Given the description of an element on the screen output the (x, y) to click on. 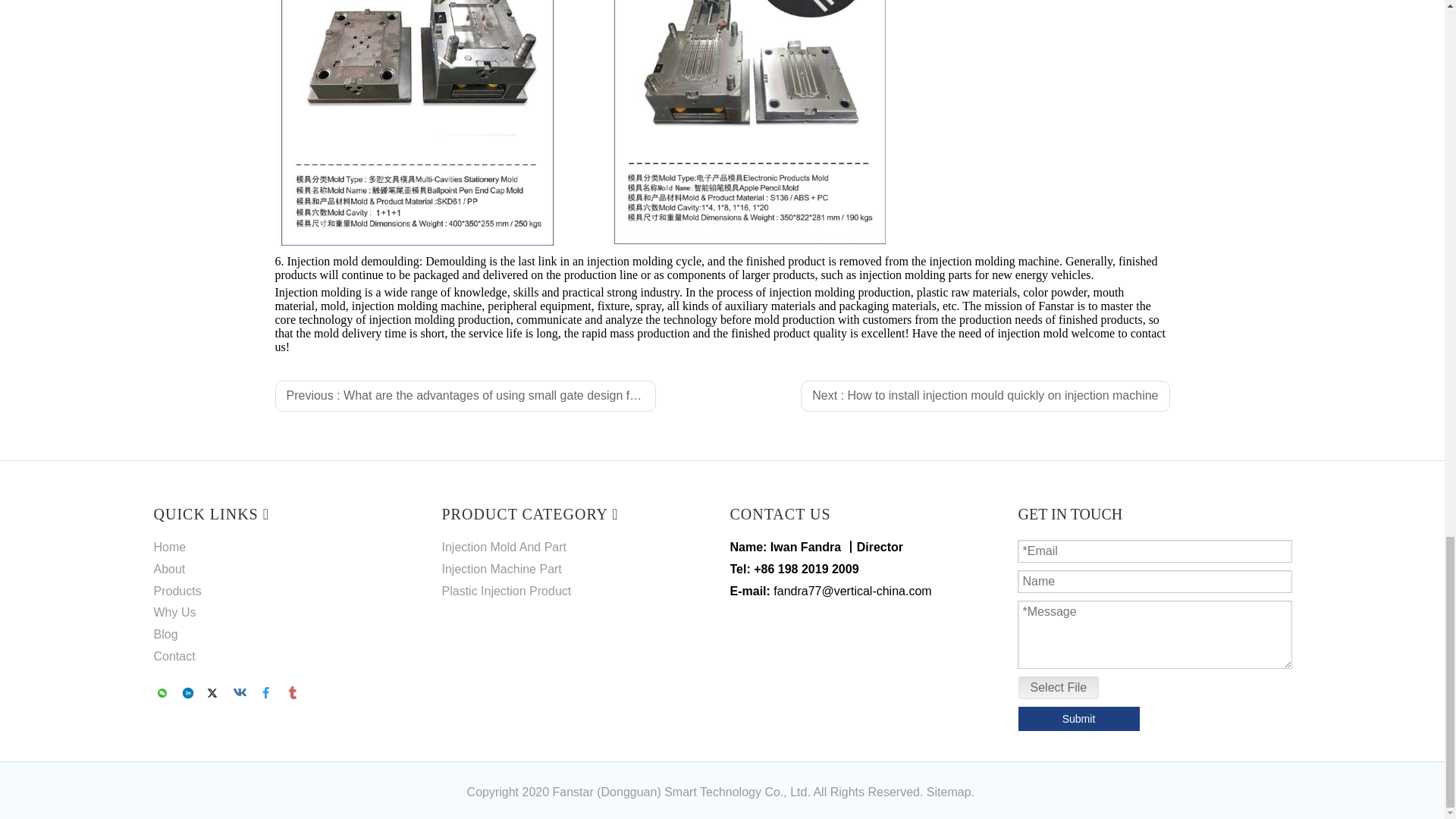
tumblr (292, 693)
vk (242, 693)
Injection Mold And Part (503, 546)
Twitter (216, 693)
Plastic Injection Product (505, 590)
Home (169, 546)
WeChat (163, 693)
Facebook (268, 693)
Products (176, 590)
Injection Machine Part (500, 568)
